Given the description of an element on the screen output the (x, y) to click on. 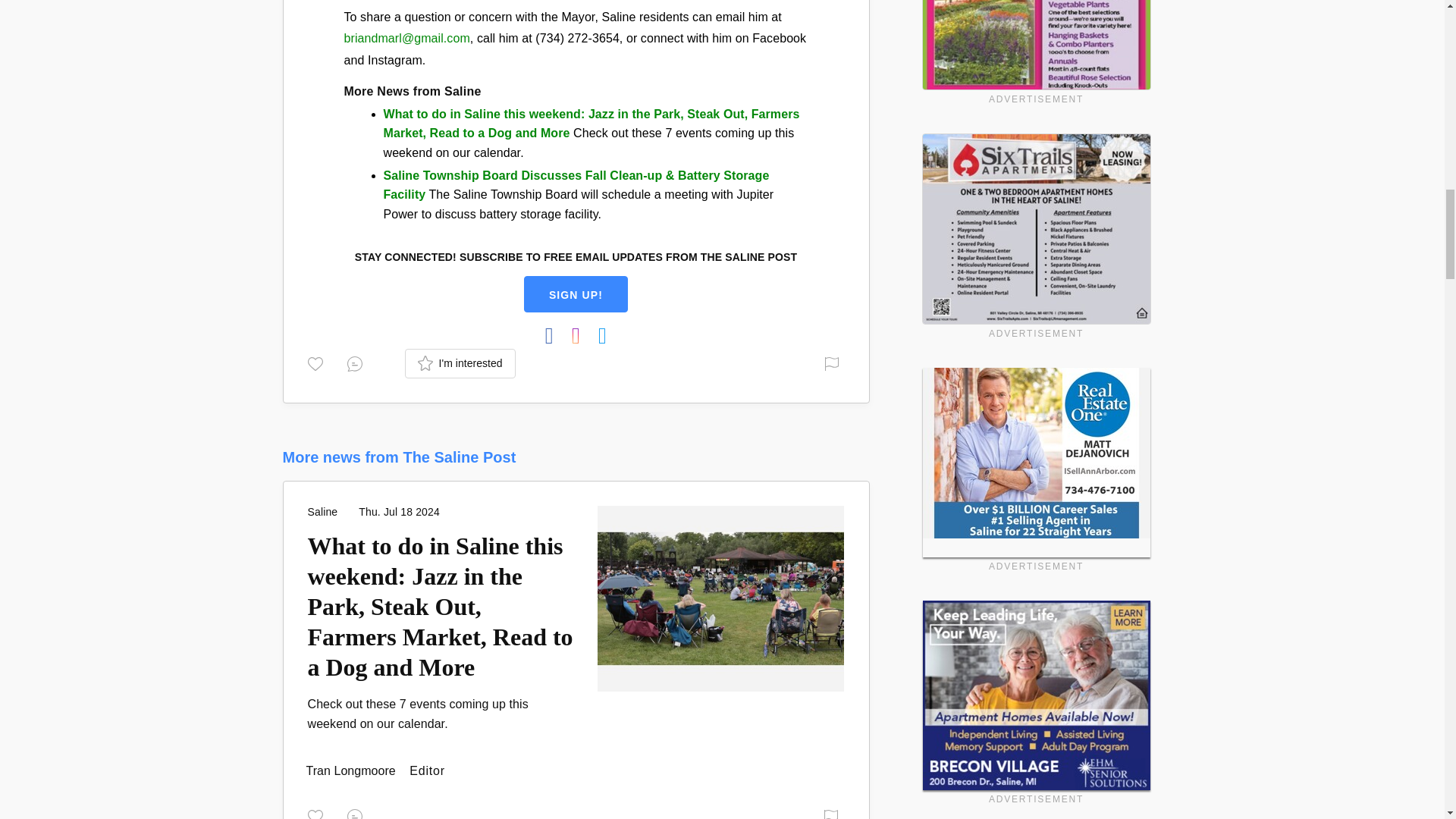
Thank (318, 813)
Editor (351, 770)
Reply (357, 363)
Thank (318, 363)
Reply (357, 813)
